Given the description of an element on the screen output the (x, y) to click on. 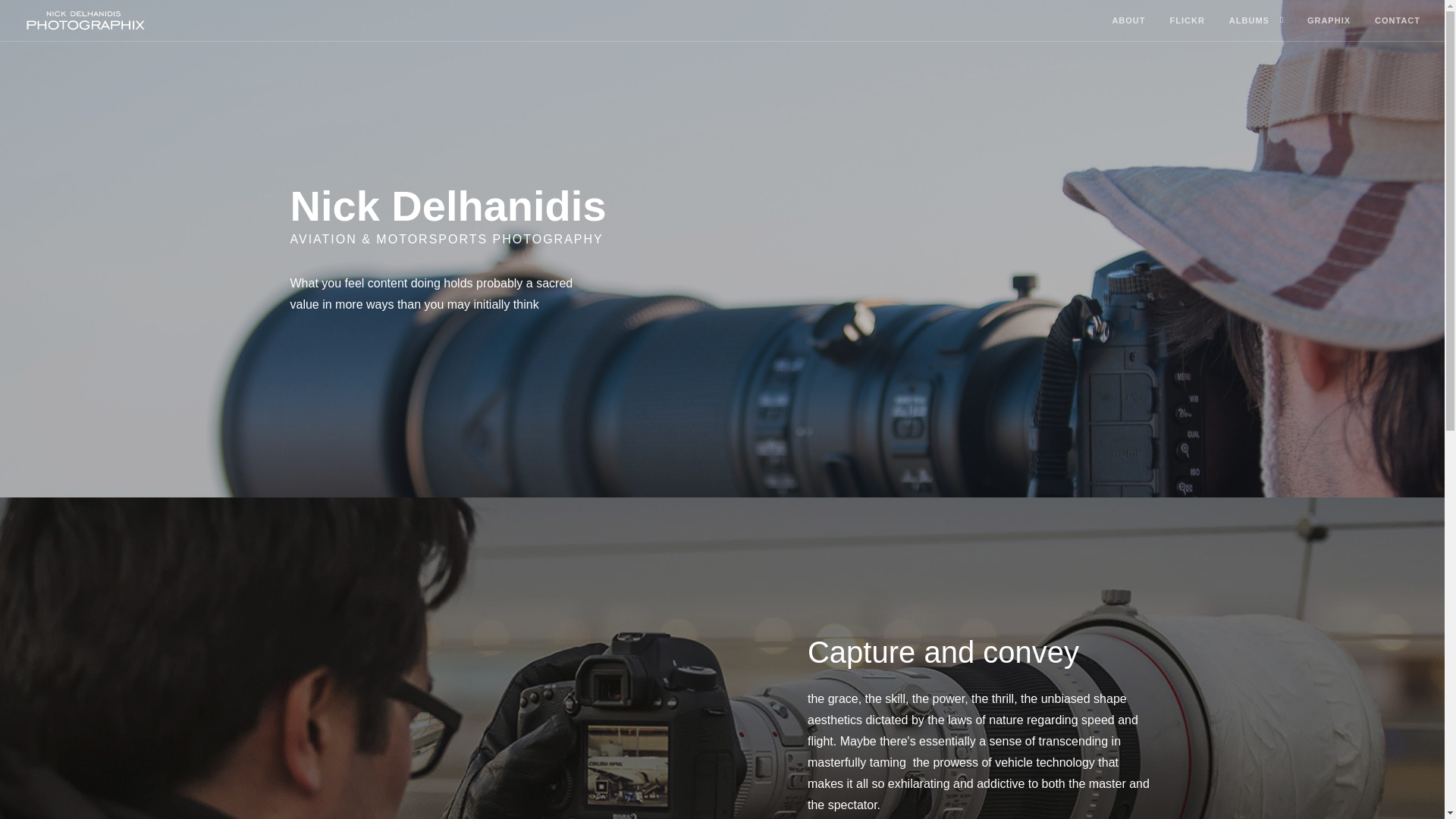
GRAPHIX (1329, 21)
CONTACT (1397, 21)
ALBUMS (1248, 21)
